Given the description of an element on the screen output the (x, y) to click on. 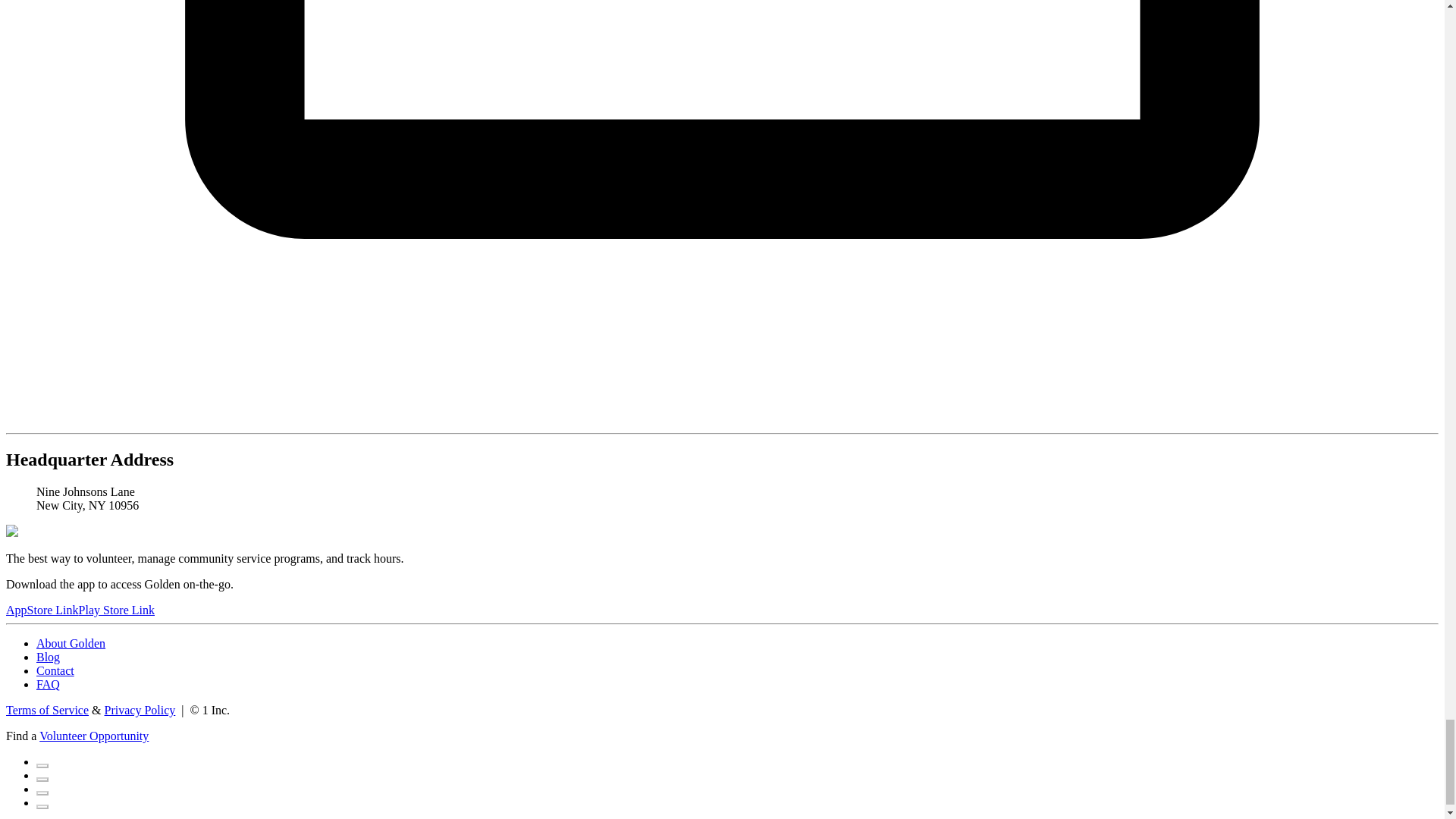
Visit Us On Facebook (42, 761)
Privacy Policy (140, 709)
FAQ (47, 684)
About Golden (70, 643)
Visit Us On Twitter (42, 775)
Contact (55, 670)
Contact (55, 670)
Volunteer Opportunity (93, 735)
Volunteer Opportunity (93, 735)
Blog (47, 656)
